Given the description of an element on the screen output the (x, y) to click on. 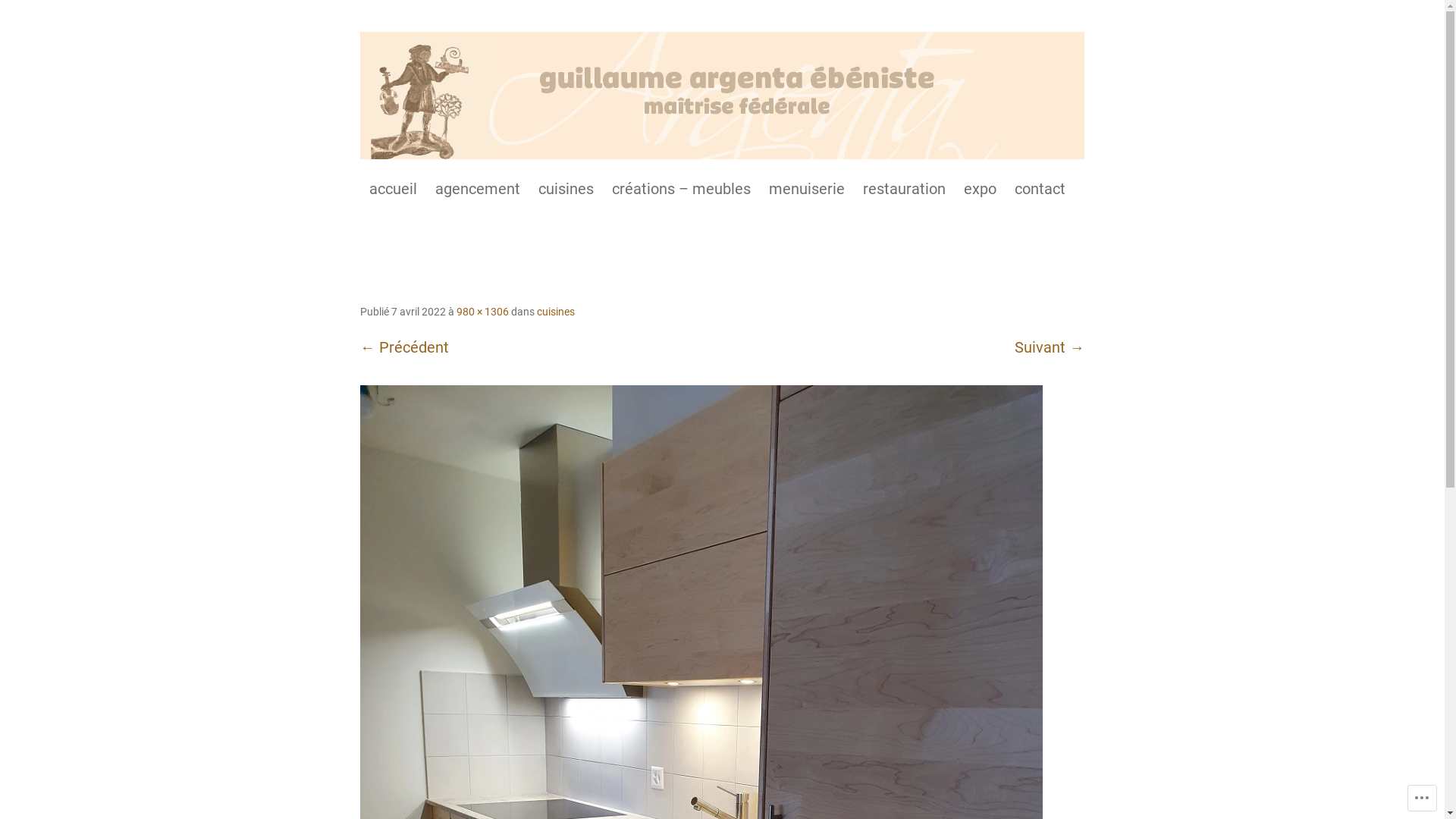
ebenisterie argenta Element type: text (405, 184)
expo Element type: text (979, 188)
ebenisterie argenta Element type: hover (722, 95)
agencement Element type: text (477, 188)
cuisines Element type: text (555, 311)
menuiserie Element type: text (806, 188)
accueil Element type: text (393, 188)
restauration Element type: text (903, 188)
contact Element type: text (1039, 188)
cuisines Element type: text (565, 188)
